Given the description of an element on the screen output the (x, y) to click on. 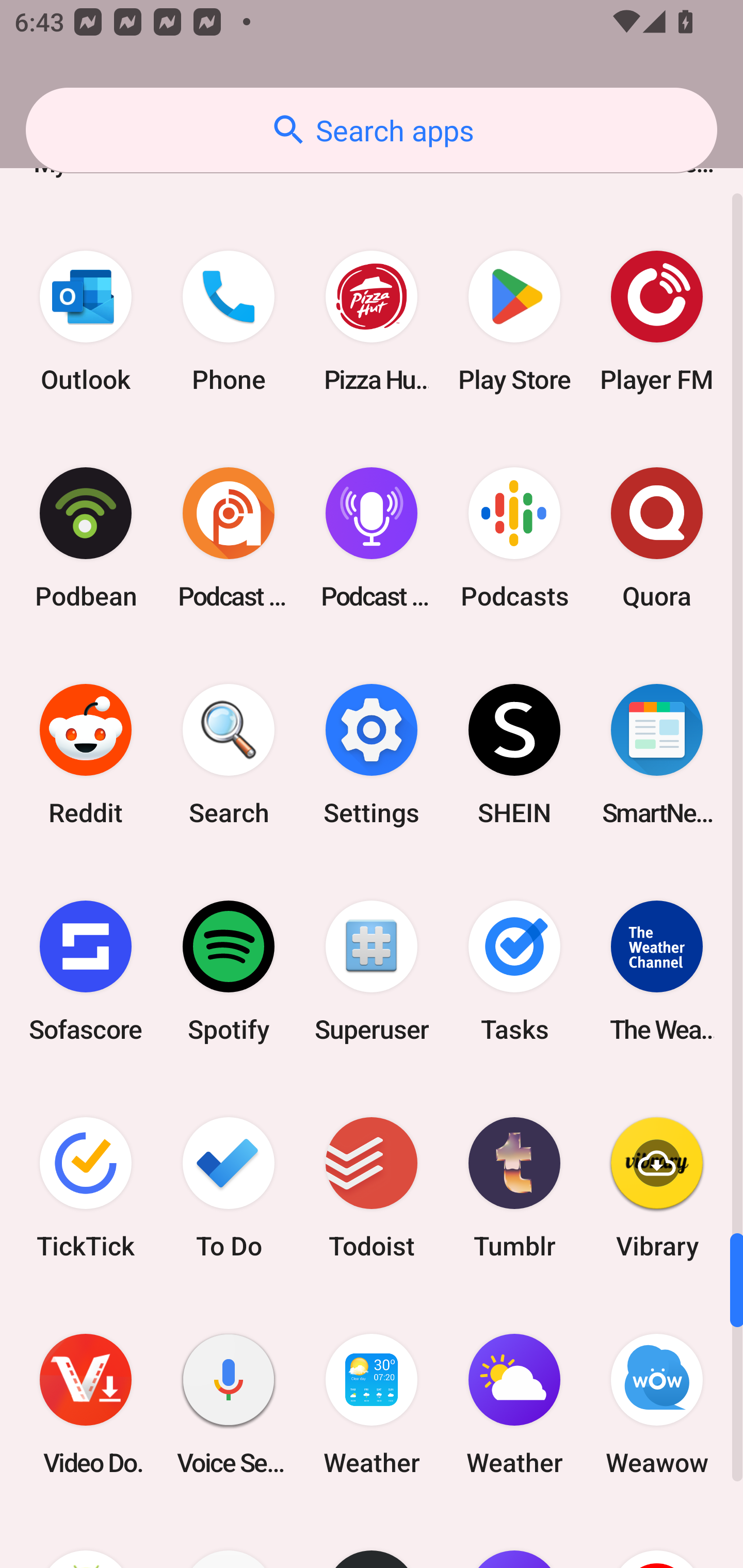
  Search apps (371, 130)
Outlook (85, 321)
Phone (228, 321)
Pizza Hut HK & Macau (371, 321)
Play Store (514, 321)
Player FM (656, 321)
Podbean (85, 537)
Podcast Addict (228, 537)
Podcast Player (371, 537)
Podcasts (514, 537)
Quora (656, 537)
Reddit (85, 754)
Search (228, 754)
Settings (371, 754)
SHEIN (514, 754)
SmartNews (656, 754)
Sofascore (85, 970)
Spotify (228, 970)
Superuser (371, 970)
Tasks (514, 970)
The Weather Channel (656, 970)
TickTick (85, 1187)
To Do (228, 1187)
Todoist (371, 1187)
Tumblr (514, 1187)
Vibrary (656, 1187)
Video Downloader & Ace Player (85, 1404)
Voice Search (228, 1404)
Weather (371, 1404)
Weather (514, 1404)
Weawow (656, 1404)
